Given the description of an element on the screen output the (x, y) to click on. 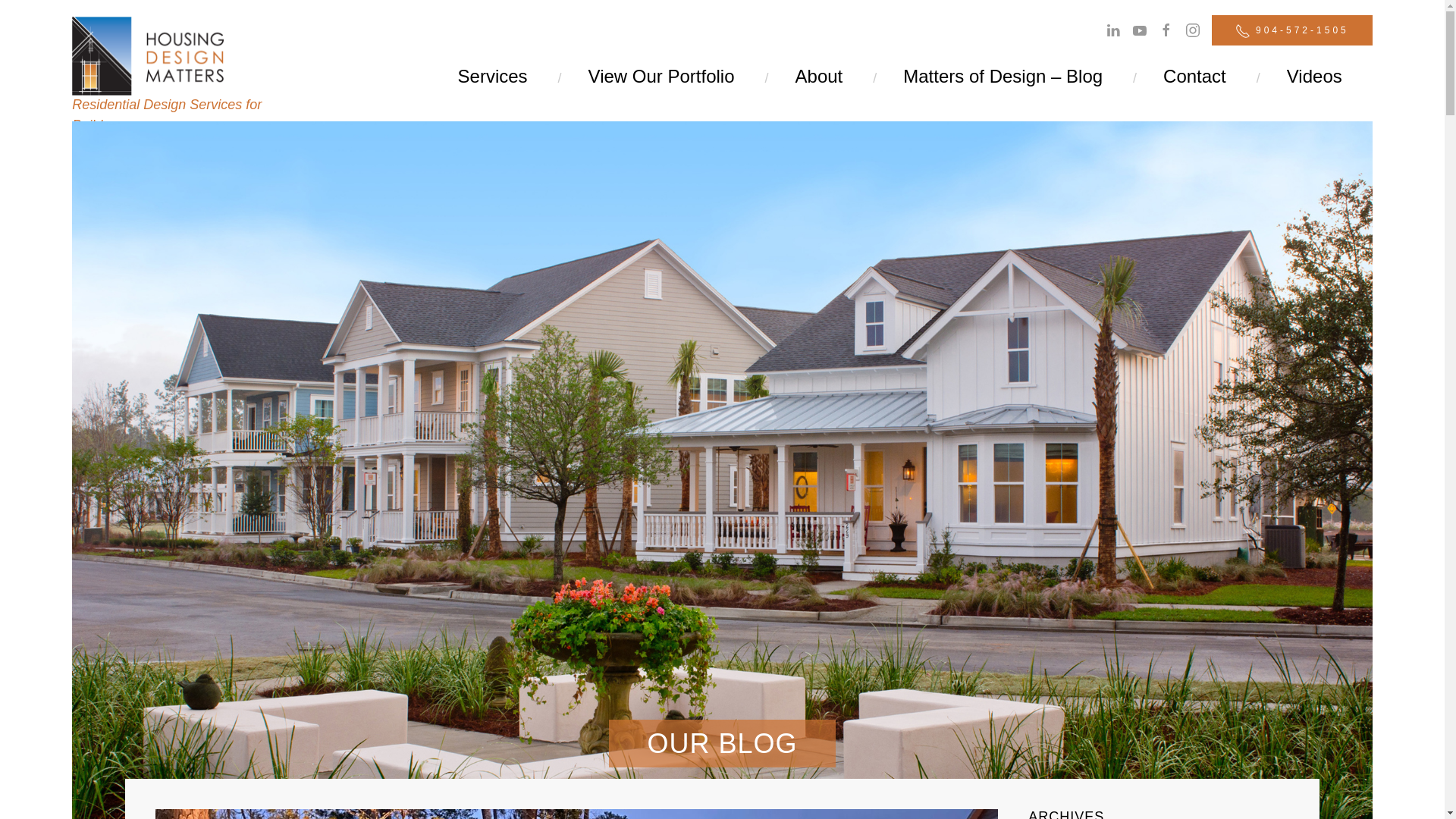
Services (492, 75)
About (819, 75)
View Our Portfolio (660, 75)
904-572-1505 (1292, 30)
Videos (1314, 75)
Contact (1194, 75)
